Given the description of an element on the screen output the (x, y) to click on. 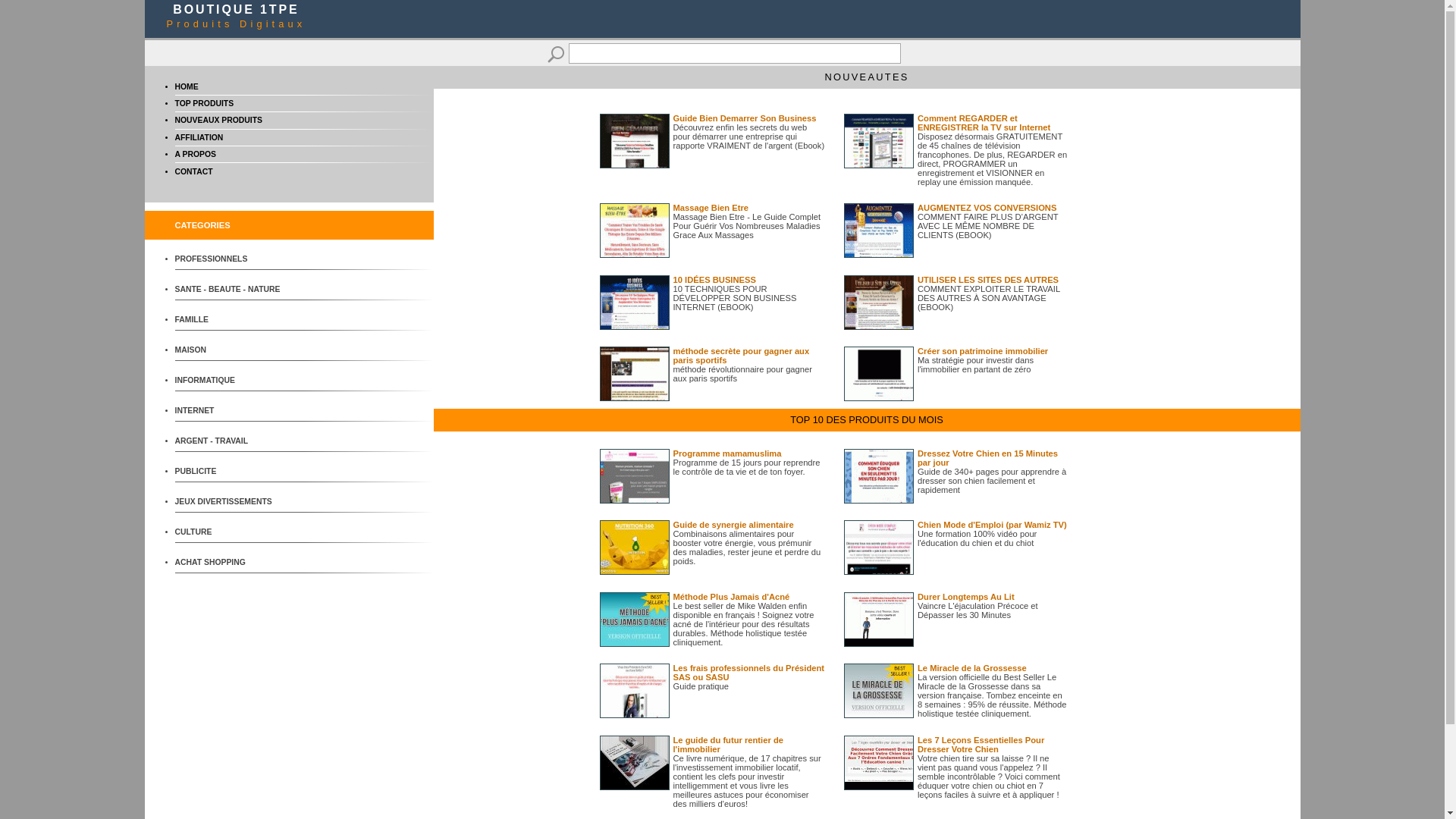
ACHAT SHOPPING Element type: text (231, 562)
A PROPOS Element type: text (194, 154)
Dressez Votre Chien en 15 Minutes par jour Element type: text (987, 457)
HOME Element type: text (185, 86)
UTILISER LES SITES DES AUTRES Element type: text (987, 279)
Massage Bien Etre Element type: text (711, 207)
Comment REGARDER et ENREGISTRER la TV sur Internet Element type: text (983, 122)
Le Miracle de la Grossesse Element type: text (971, 667)
PROFESSIONNELS Element type: text (231, 258)
AFFILIATION Element type: text (198, 137)
FAMILLE Element type: text (231, 319)
Guide pratique Element type: text (700, 685)
Guide de synergie alimentaire Element type: text (733, 524)
CONTACT Element type: text (193, 171)
Durer Longtemps Au Lit Element type: text (965, 596)
PUBLICITE Element type: text (231, 471)
JEUX DIVERTISSEMENTS Element type: text (231, 501)
Le guide du futur rentier de l'immobilier Element type: text (728, 744)
MAISON Element type: text (231, 349)
ARGENT - TRAVAIL Element type: text (231, 440)
INFORMATIQUE Element type: text (231, 380)
INTERNET Element type: text (231, 410)
CULTURE Element type: text (231, 531)
Chien Mode d'Emploi (par Wamiz TV) Element type: text (991, 524)
SANTE - BEAUTE - NATURE Element type: text (231, 289)
Guide Bien Demarrer Son Business Element type: text (744, 117)
TOP PRODUITS Element type: text (203, 103)
AUGMENTEZ VOS CONVERSIONS Element type: text (986, 207)
NOUVEAUX PRODUITS Element type: text (217, 120)
Programme mamamuslima Element type: text (727, 453)
